Given the description of an element on the screen output the (x, y) to click on. 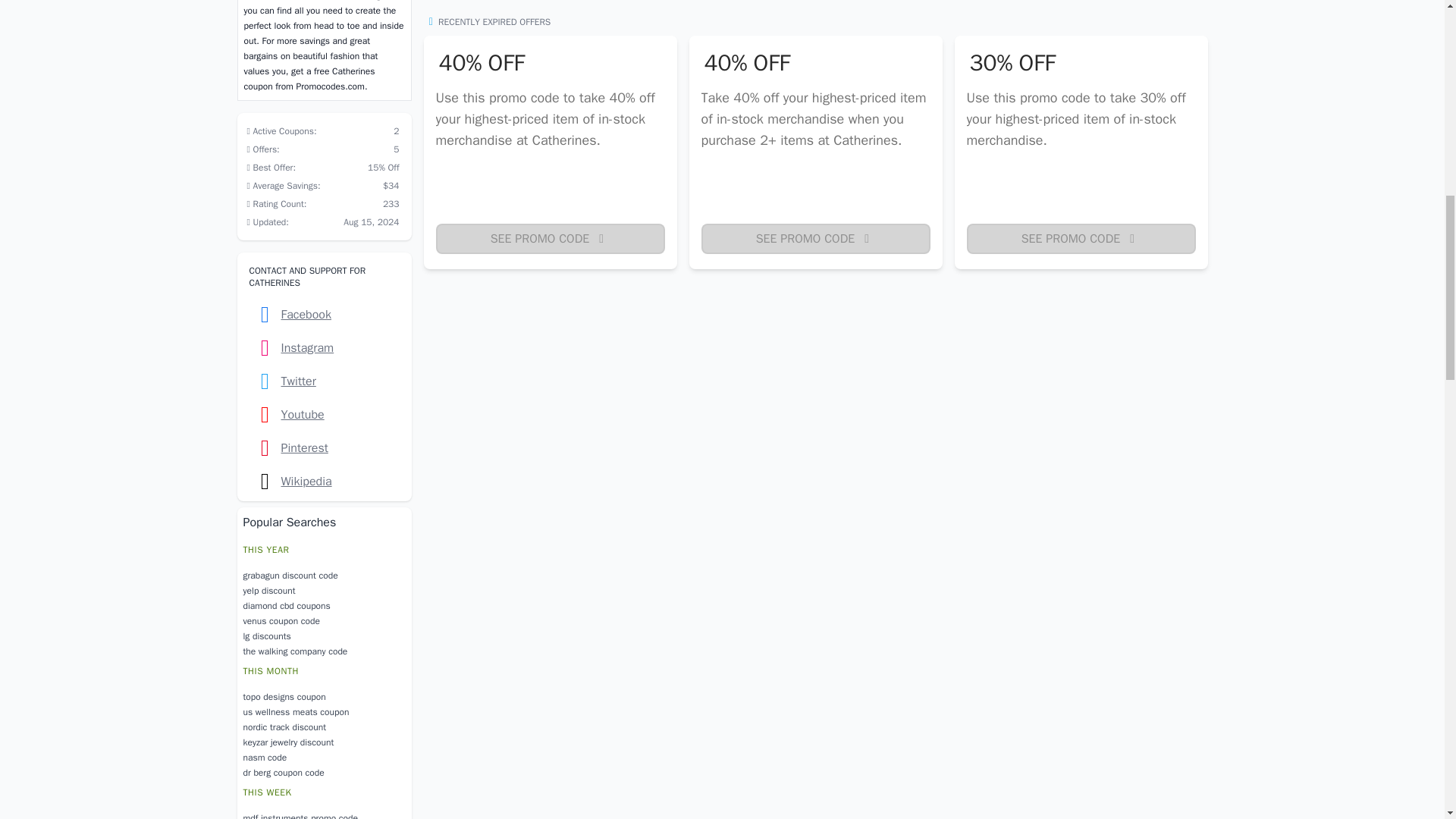
nasm code (323, 757)
keyzar jewelry discount (323, 742)
nordic track discount (323, 726)
lg discounts (323, 635)
Youtube (323, 414)
Catherines official facebook page (323, 314)
topo designs coupon (323, 696)
us wellness meats coupon (323, 711)
grabagun discount code (323, 575)
venus coupon code (323, 620)
